Given the description of an element on the screen output the (x, y) to click on. 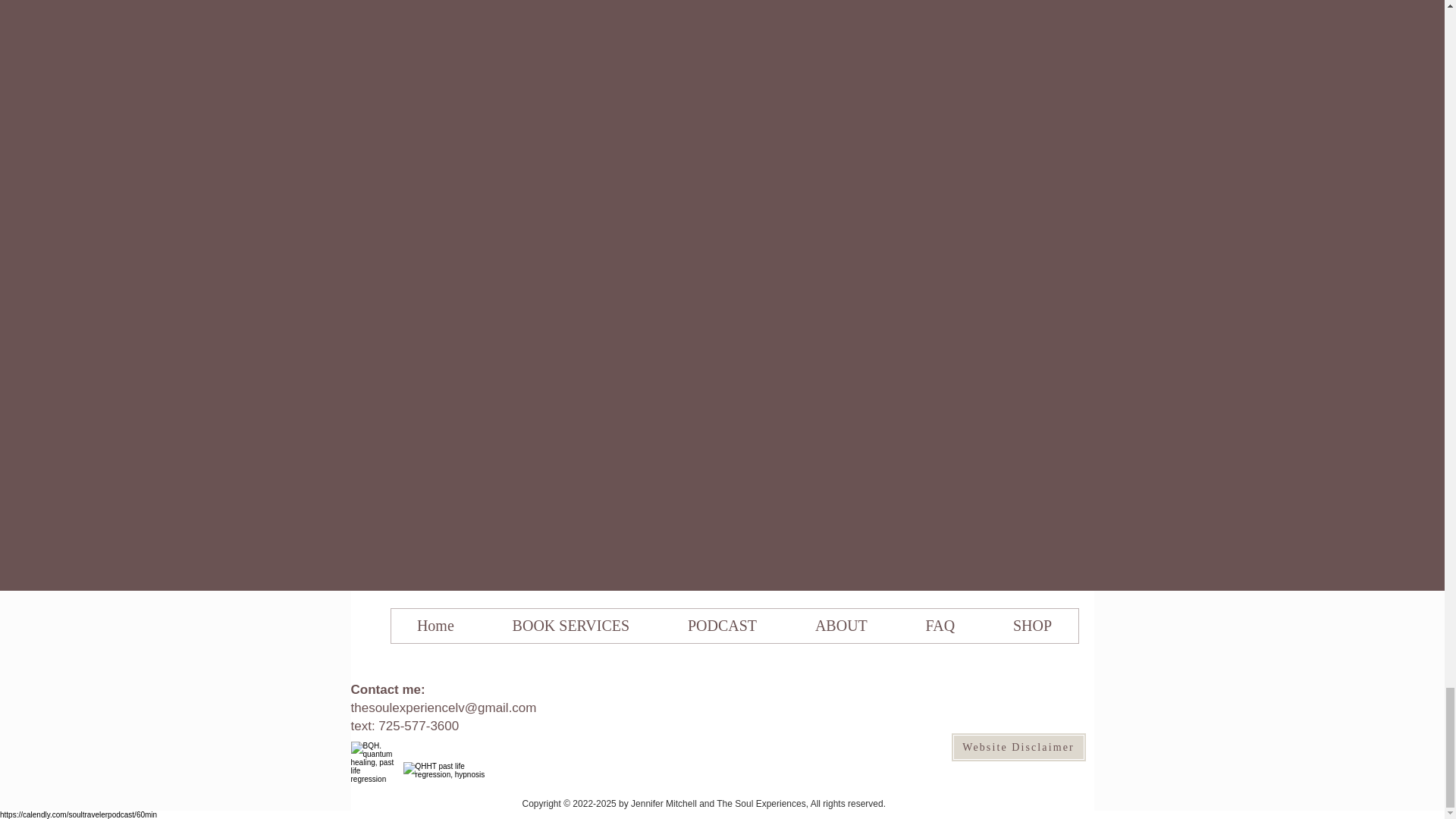
BEYOND QUANTUM HEALING (373, 764)
Home (435, 625)
PODCAST (722, 625)
QUANTUM HEALING HYPNOSIS (446, 774)
